Given the description of an element on the screen output the (x, y) to click on. 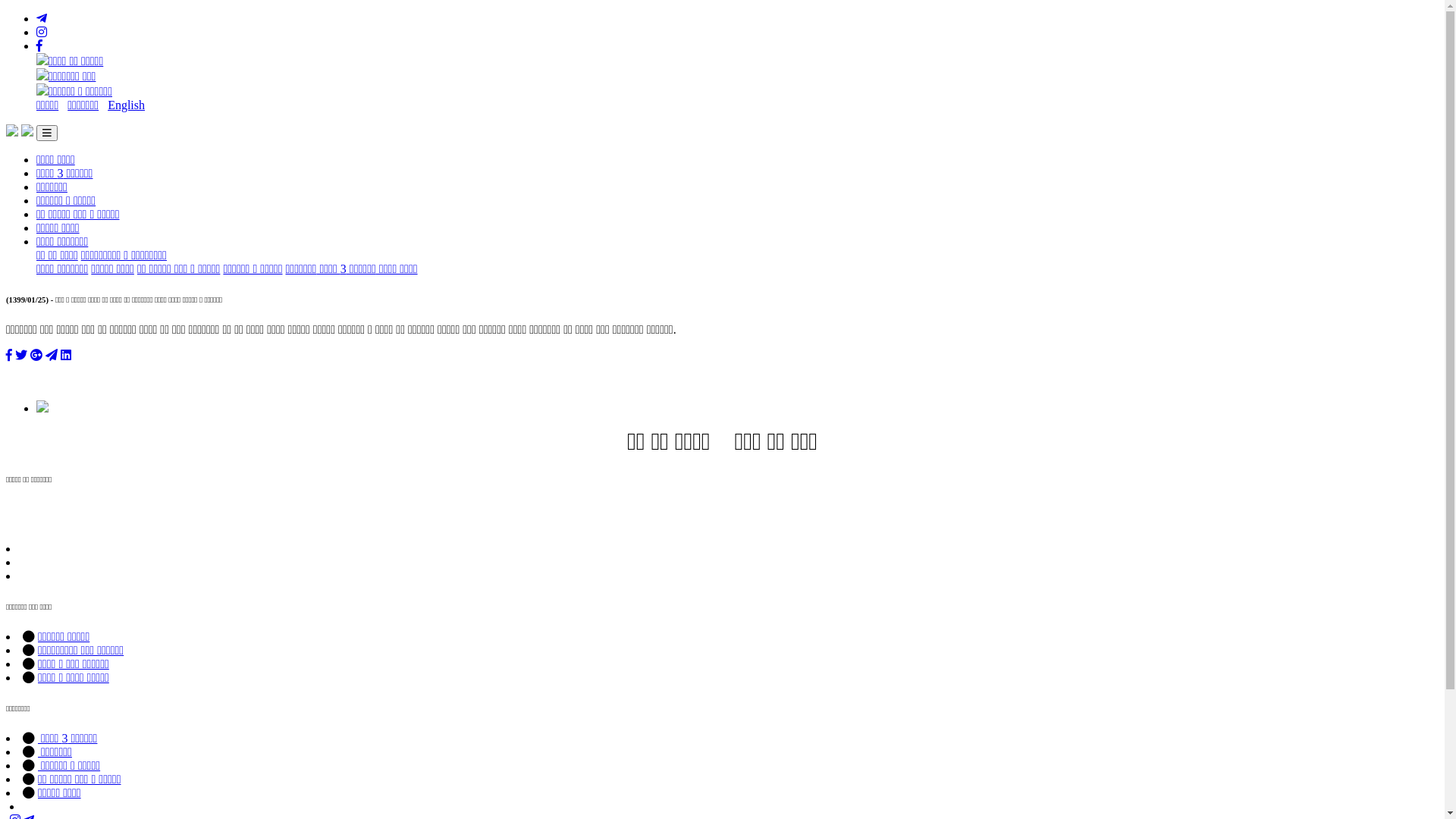
English Element type: text (125, 104)
